Given the description of an element on the screen output the (x, y) to click on. 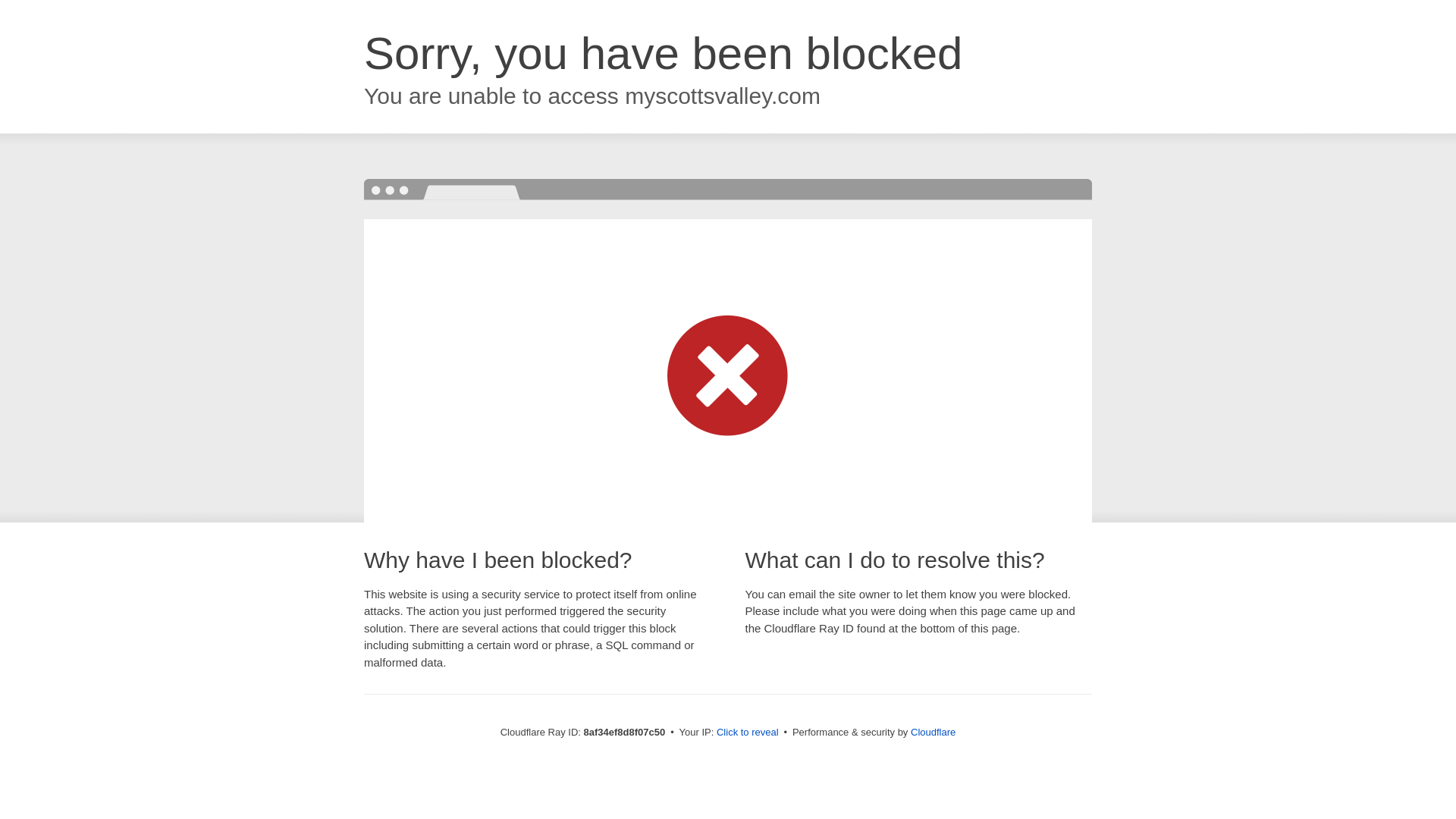
Cloudflare (933, 731)
Click to reveal (747, 732)
